Given the description of an element on the screen output the (x, y) to click on. 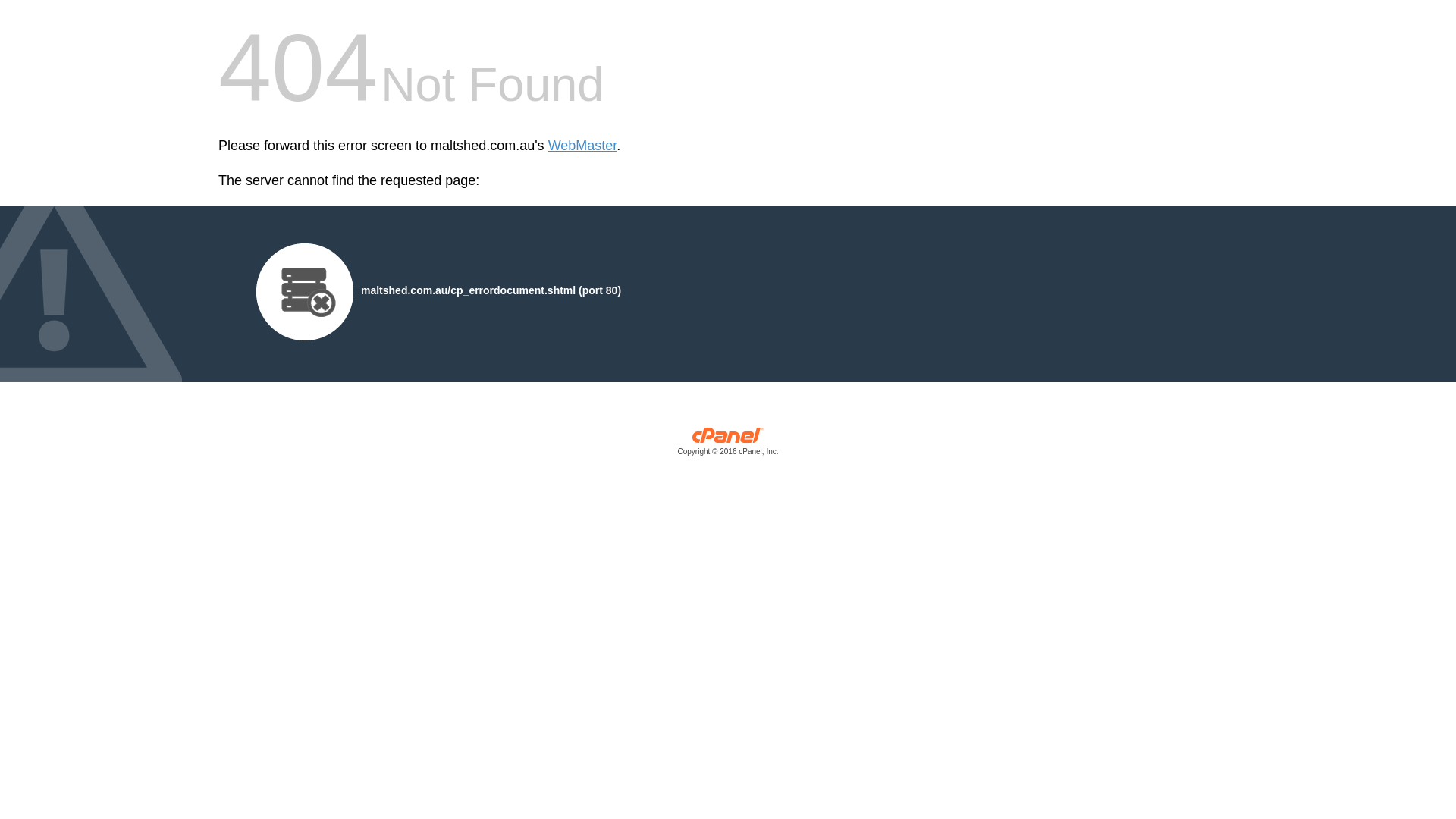
WebMaster Element type: text (582, 145)
